Given the description of an element on the screen output the (x, y) to click on. 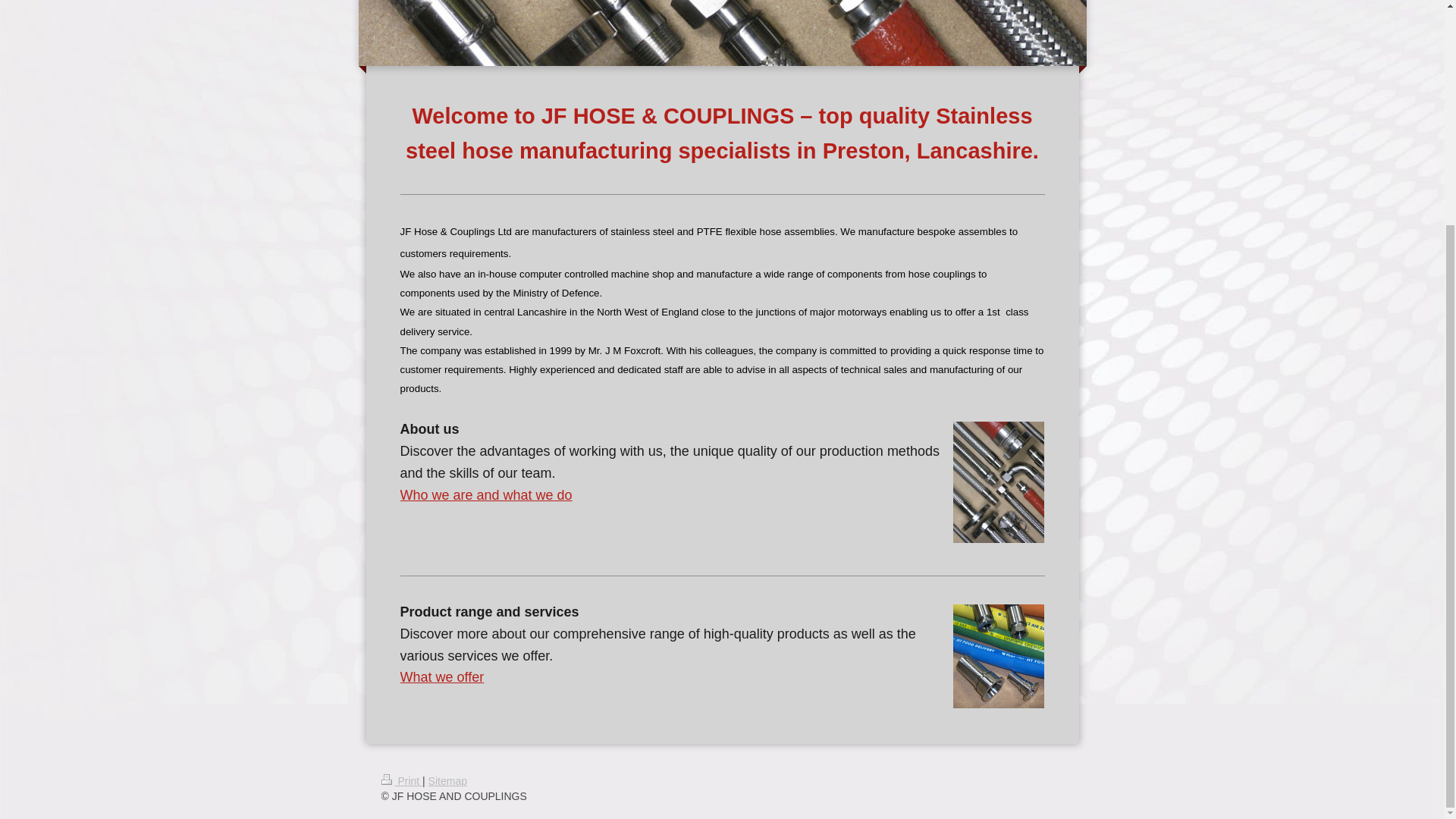
Print (401, 780)
Who we are and what we do (486, 494)
Sitemap (447, 780)
What we offer (442, 676)
